Given the description of an element on the screen output the (x, y) to click on. 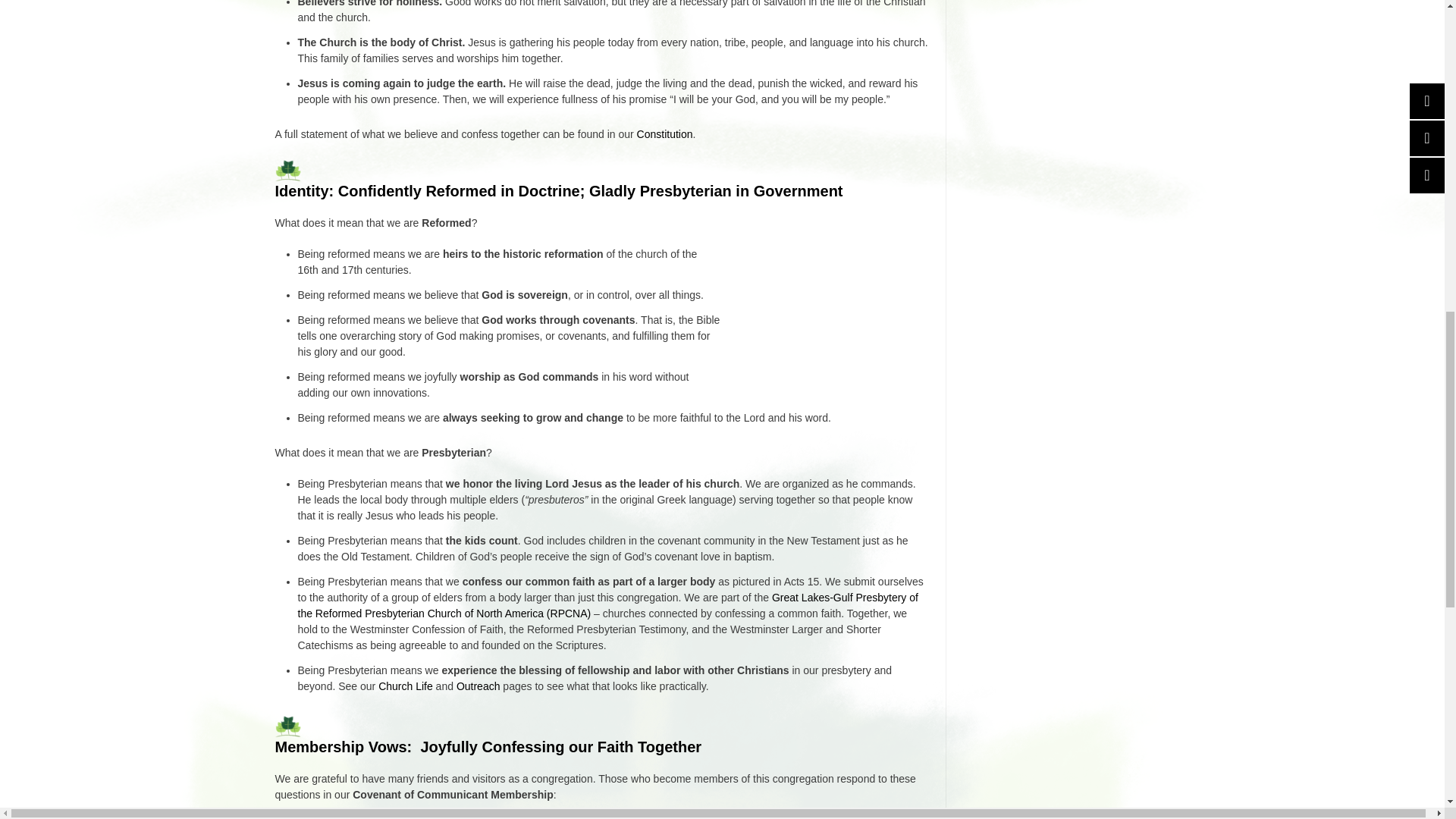
Church Life (405, 686)
Constitution (665, 133)
Outreach (478, 686)
